Given the description of an element on the screen output the (x, y) to click on. 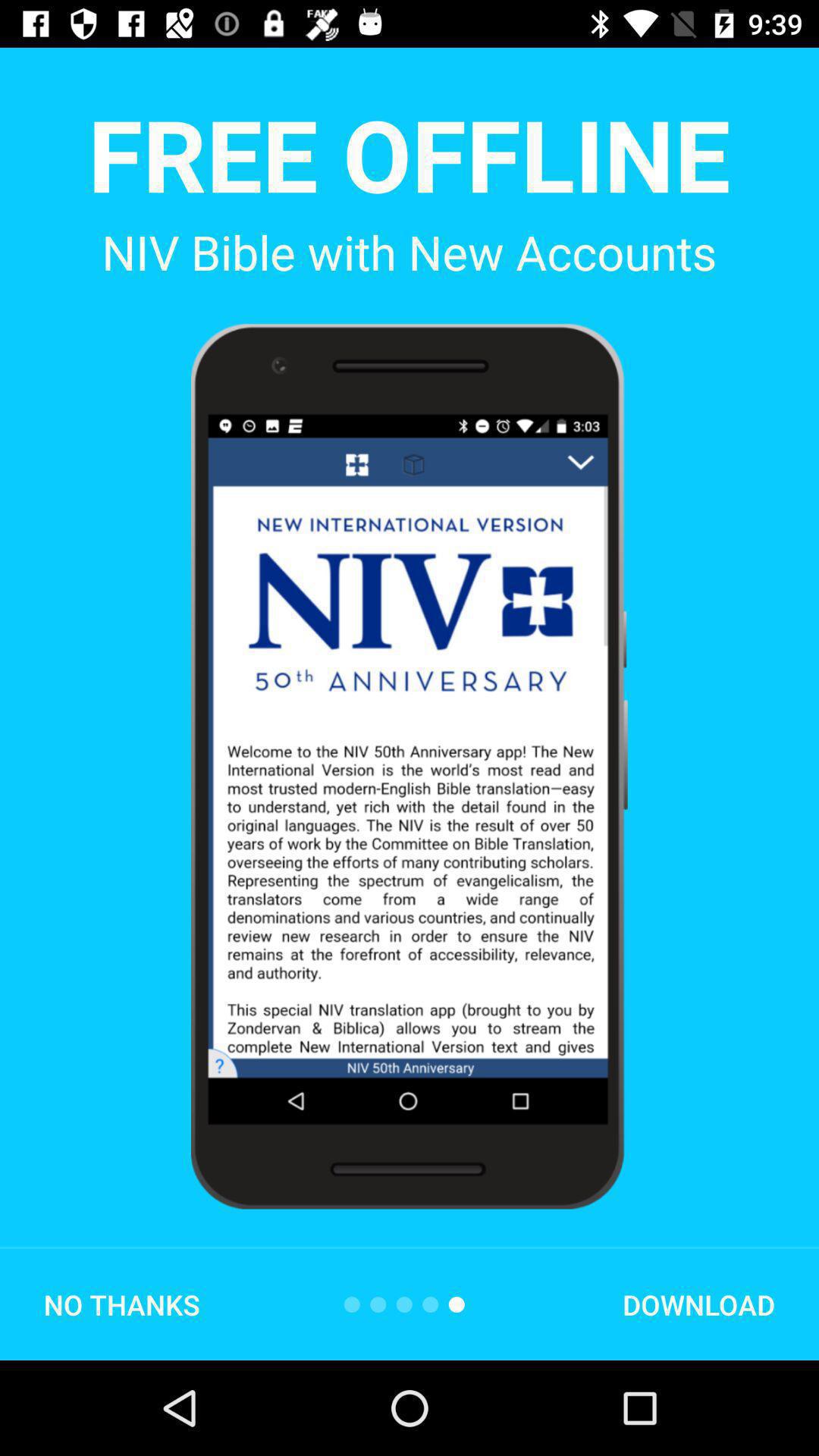
jump to the no thanks icon (121, 1304)
